Given the description of an element on the screen output the (x, y) to click on. 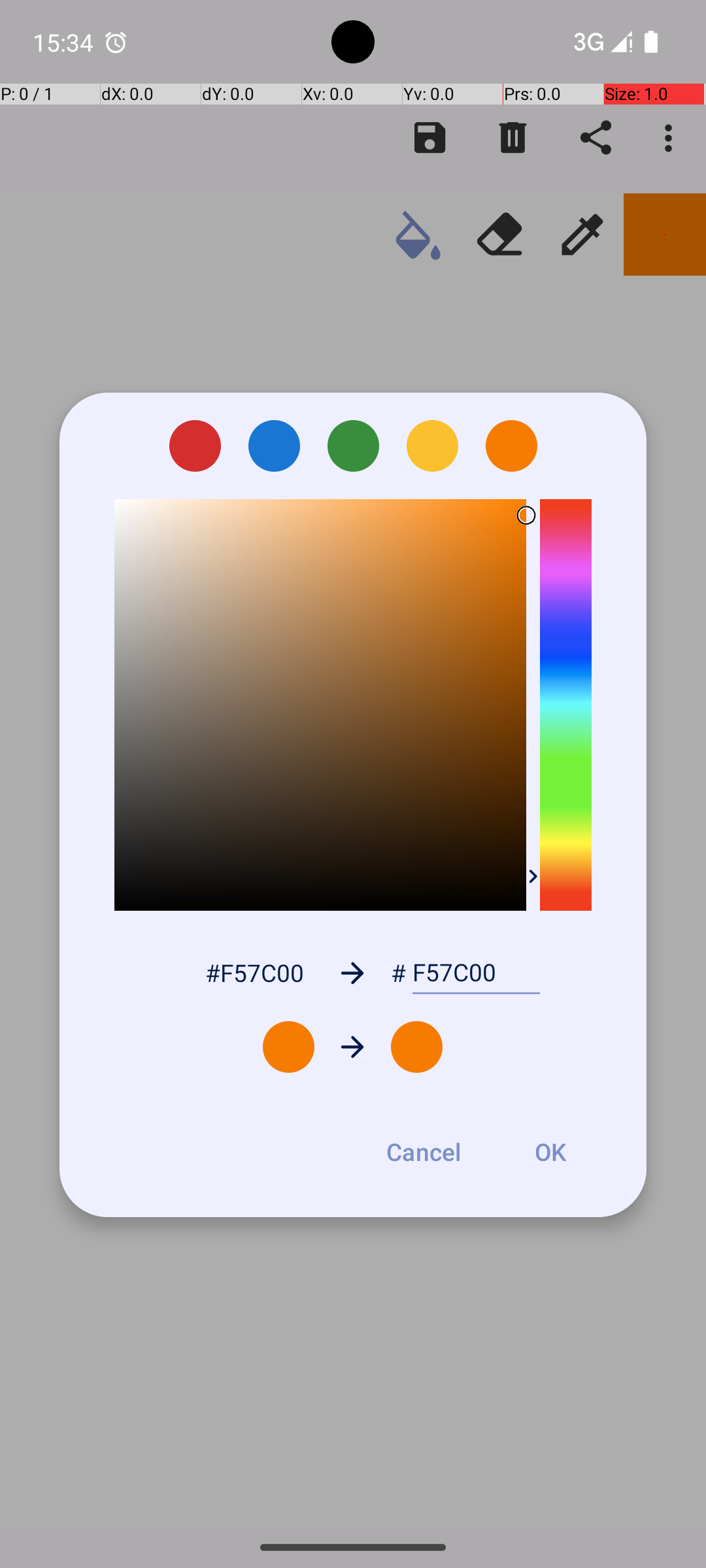
F57C00 Element type: android.widget.EditText (475, 972)
